Given the description of an element on the screen output the (x, y) to click on. 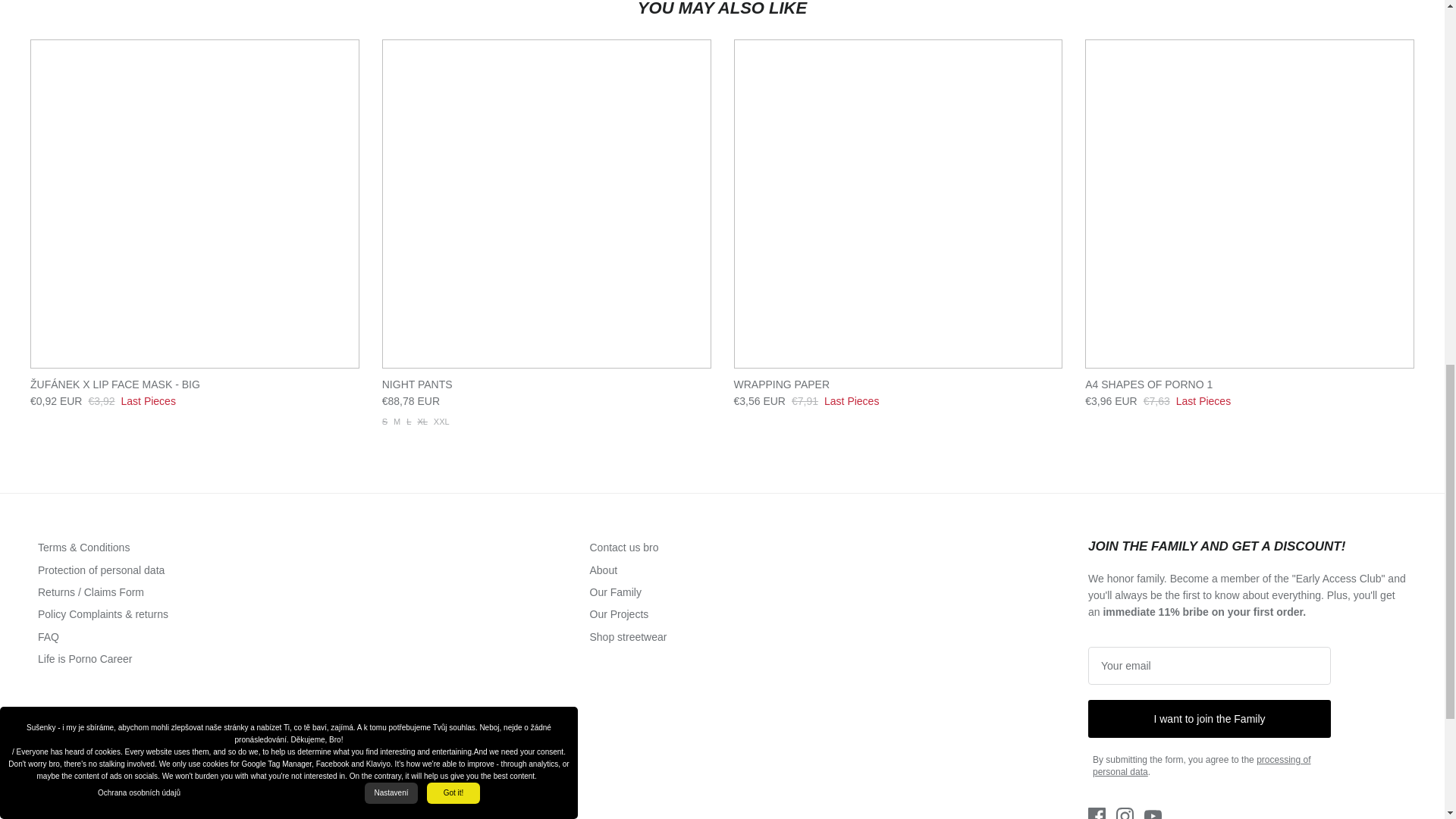
Facebook (1096, 813)
Instagram (1125, 813)
Youtube (1152, 813)
